Given the description of an element on the screen output the (x, y) to click on. 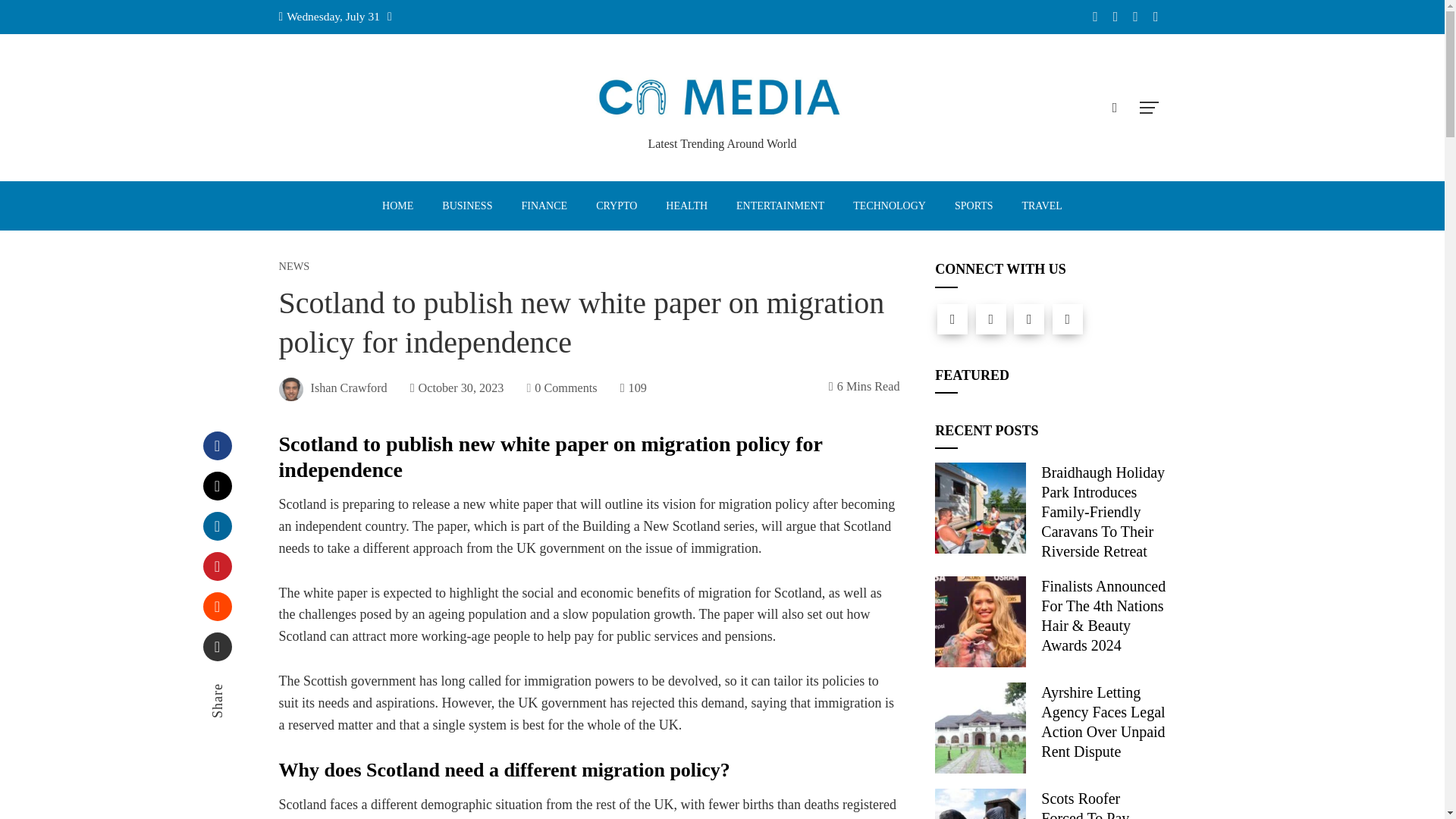
Facebook (217, 445)
Twitter (990, 318)
TECHNOLOGY (889, 205)
CRYPTO (616, 205)
HOME (397, 205)
Email (217, 646)
SPORTS (974, 205)
Stumbleupon (217, 606)
TRAVEL (1041, 205)
BUSINESS (466, 205)
Twitter (217, 485)
HEALTH (686, 205)
Pinterest (217, 566)
FINANCE (543, 205)
LinkedIn (217, 525)
